Given the description of an element on the screen output the (x, y) to click on. 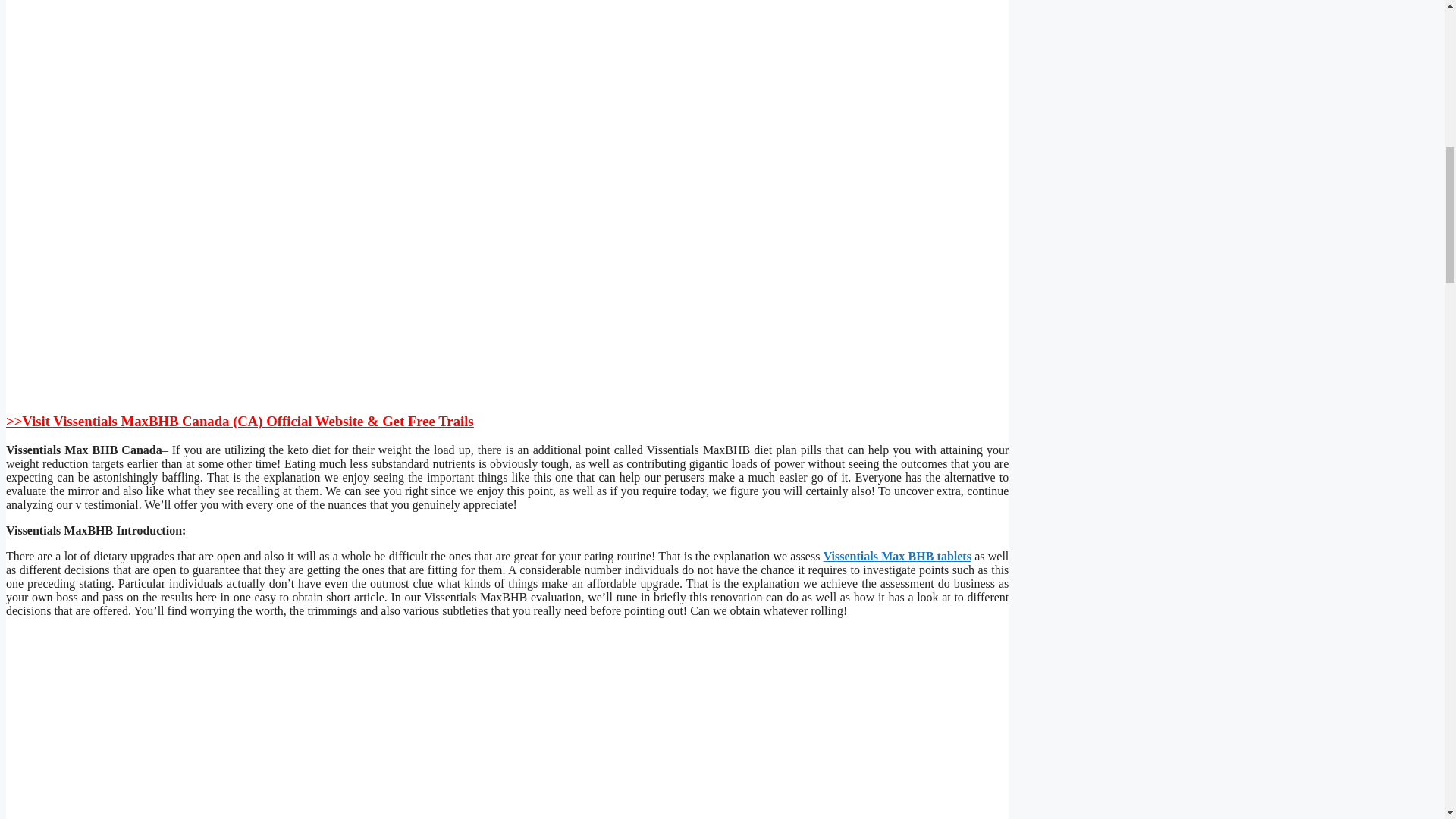
Vissentials Max BHB tablets (897, 555)
